Given the description of an element on the screen output the (x, y) to click on. 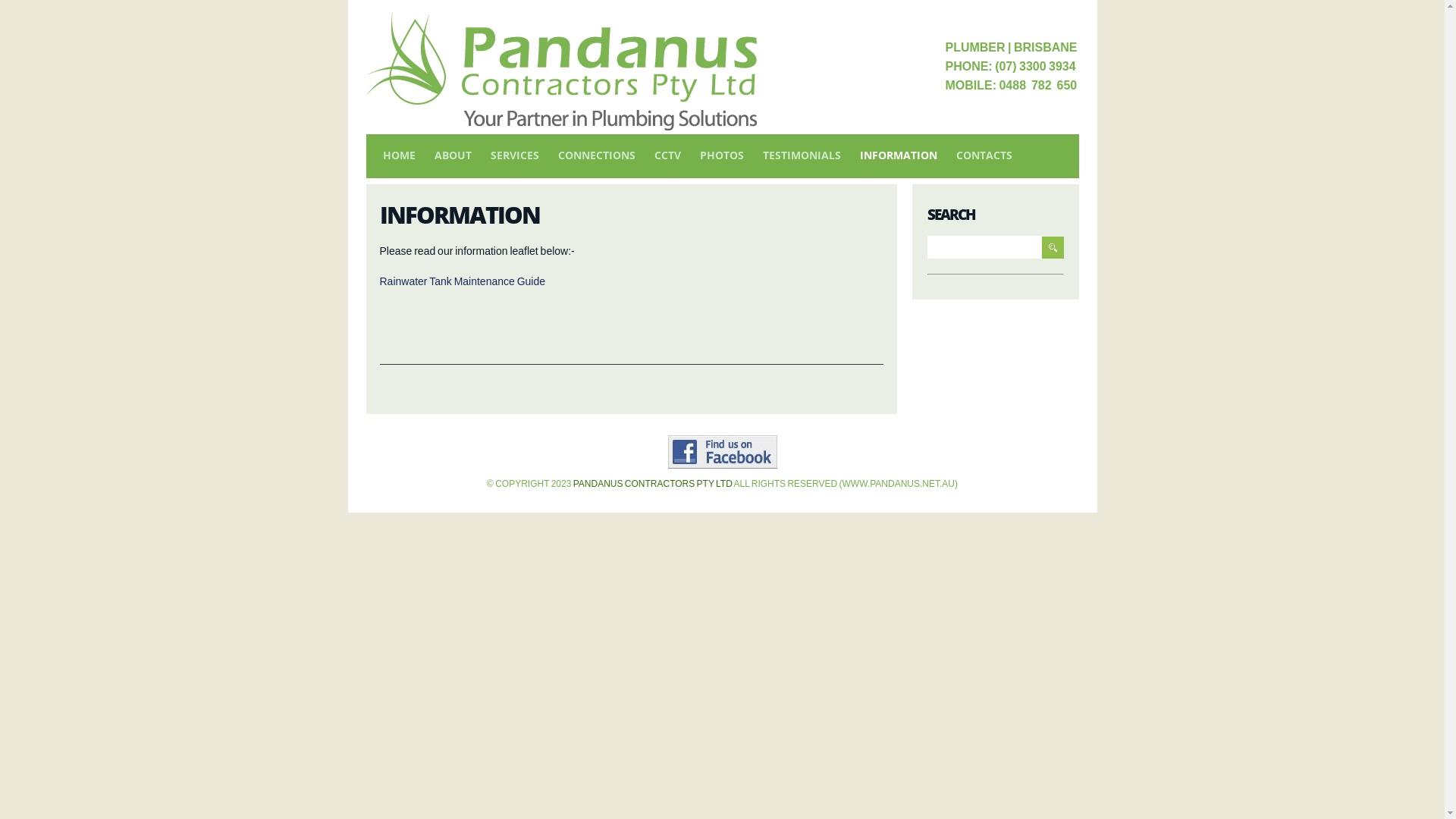
Find Us On Facebook Element type: hover (721, 451)
HOME Element type: text (398, 154)
PANDANUS CONTRACTORS PTY LTD Element type: text (652, 483)
PHOTOS Element type: text (721, 154)
Search Element type: text (1052, 247)
CONTACTS Element type: text (983, 154)
Rainwater Tank Maintenance Guide Element type: text (462, 281)
CCTV Element type: text (666, 154)
CONNECTIONS Element type: text (596, 154)
SERVICES Element type: text (513, 154)
INFORMATION Element type: text (898, 154)
ABOUT Element type: text (451, 154)
TESTIMONIALS Element type: text (801, 154)
